Given the description of an element on the screen output the (x, y) to click on. 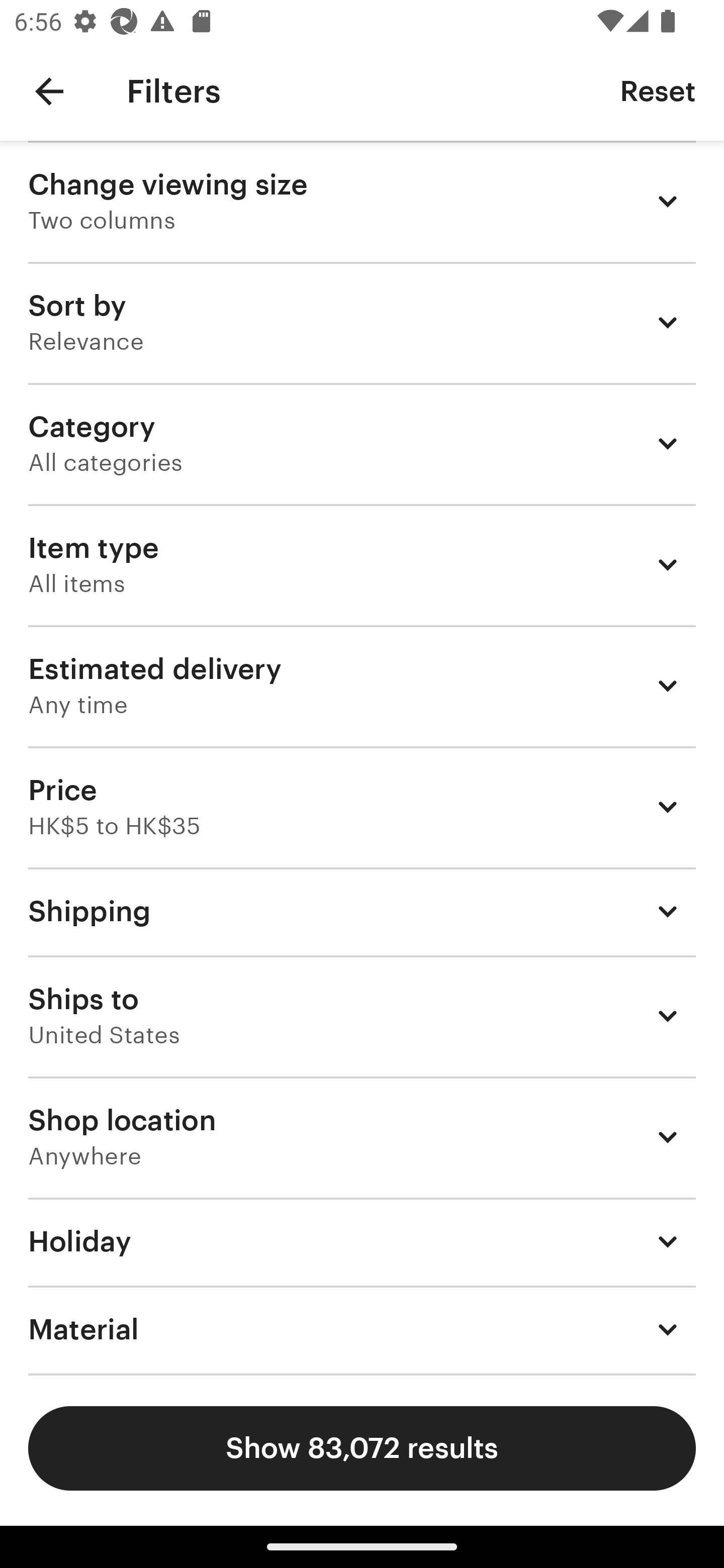
Navigate up (49, 91)
Reset (657, 90)
Change viewing size Two columns (362, 201)
Sort by Relevance (362, 321)
Category All categories (362, 442)
Item type All items (362, 564)
Estimated delivery Any time (362, 685)
Price HK$5 to HK$35 (362, 806)
Shipping (362, 910)
Ships to United States (362, 1015)
Shop location Anywhere (362, 1137)
Holiday (362, 1241)
Material (362, 1329)
Show 83,072 results Show results (361, 1448)
